Given the description of an element on the screen output the (x, y) to click on. 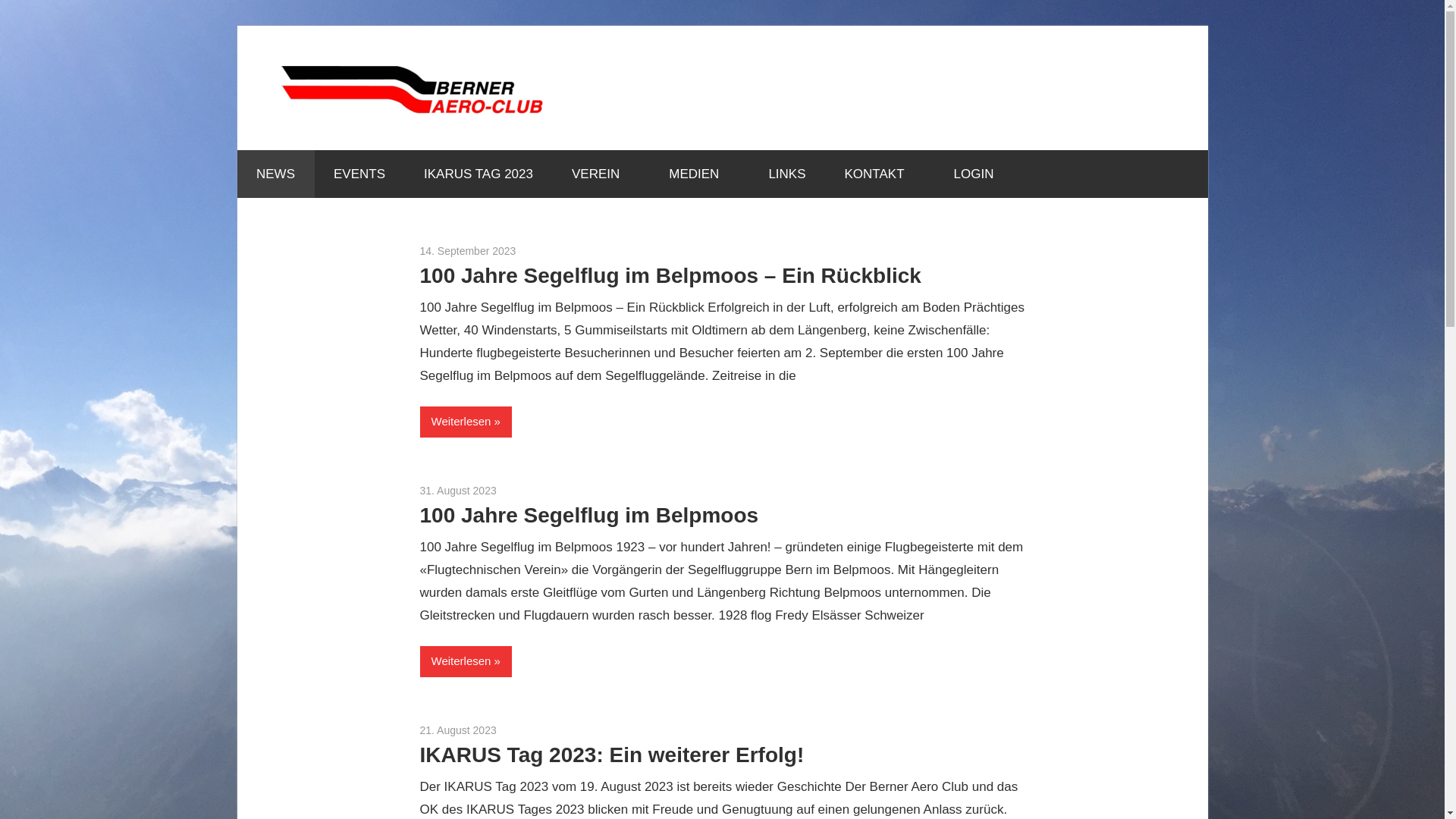
31. August 2023 Element type: text (458, 490)
EVENTS Element type: text (358, 174)
14. September 2023 Element type: text (468, 250)
VEREIN Element type: text (600, 174)
MEDIEN Element type: text (699, 174)
LOGIN Element type: text (973, 174)
IKARUS TAG 2023 Element type: text (478, 174)
NEWS Element type: text (274, 174)
21. August 2023 Element type: text (458, 730)
LINKS Element type: text (787, 174)
Weiterlesen Element type: text (465, 421)
Weiterlesen Element type: text (465, 661)
100 Jahre Segelflug im Belpmoos Element type: text (589, 515)
IKARUS Tag 2023: Ein weiterer Erfolg! Element type: text (612, 754)
KONTAKT Element type: text (879, 174)
adminbaec Element type: text (522, 490)
Zum Inhalt springen Element type: text (236, 25)
adminbaec Element type: text (541, 250)
adminbaec Element type: text (522, 730)
